Given the description of an element on the screen output the (x, y) to click on. 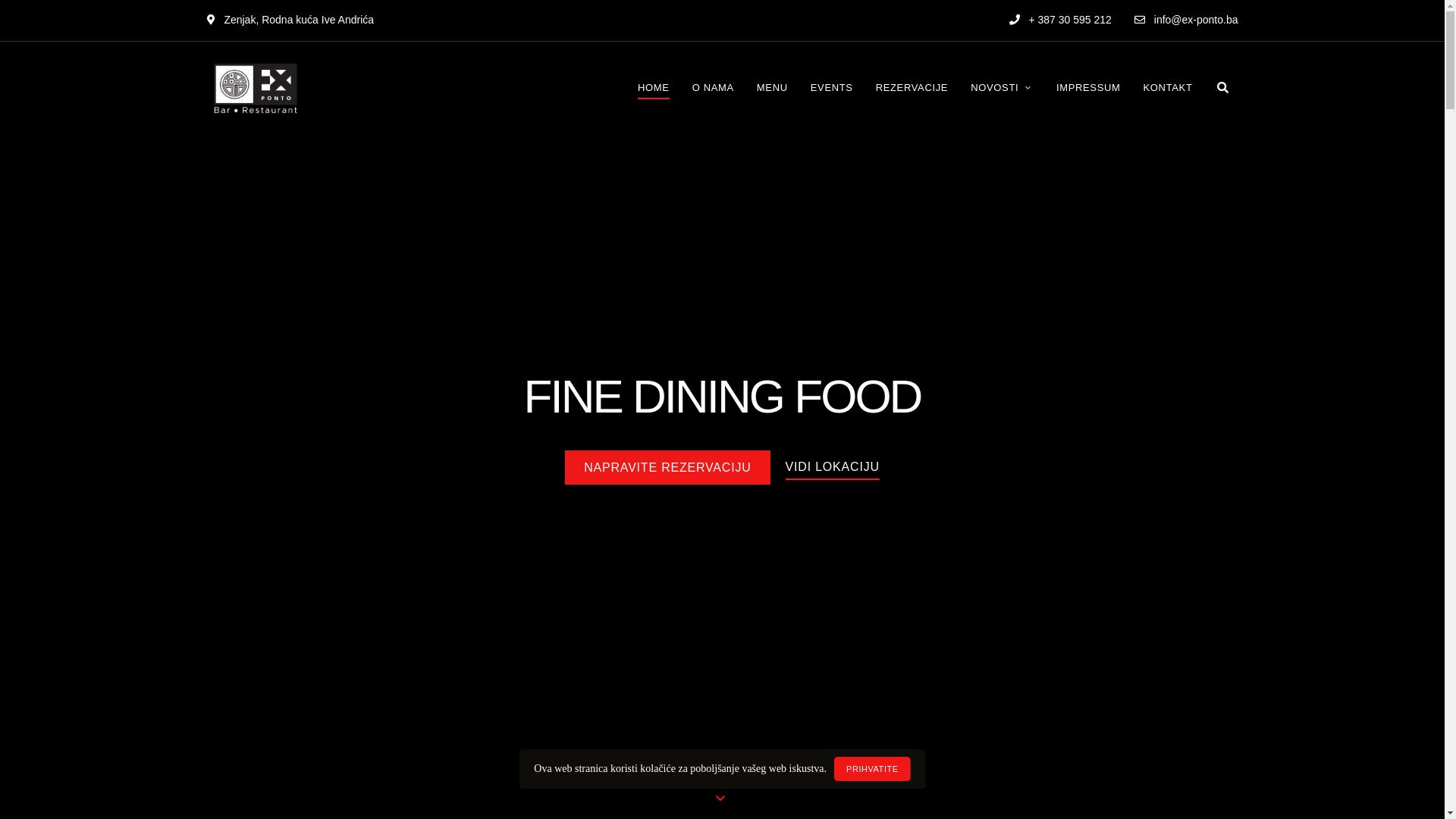
HOME Element type: text (653, 87)
MENU Element type: text (772, 87)
Ex Ponto Restaurant Element type: text (261, 142)
KONTAKT Element type: text (1168, 87)
PRIHVATITE Element type: text (872, 768)
REZERVACIJE Element type: text (912, 87)
NOVOSTI Element type: text (1001, 87)
+ 387 30 595 212 Element type: text (1060, 19)
info@ex-ponto.ba Element type: text (1186, 19)
VIDI LOKACIJU Element type: text (832, 466)
EVENTS Element type: text (831, 87)
O NAMA Element type: text (712, 87)
NAPRAVITE REZERVACIJU Element type: text (666, 467)
IMPRESSUM Element type: text (1088, 87)
